Given the description of an element on the screen output the (x, y) to click on. 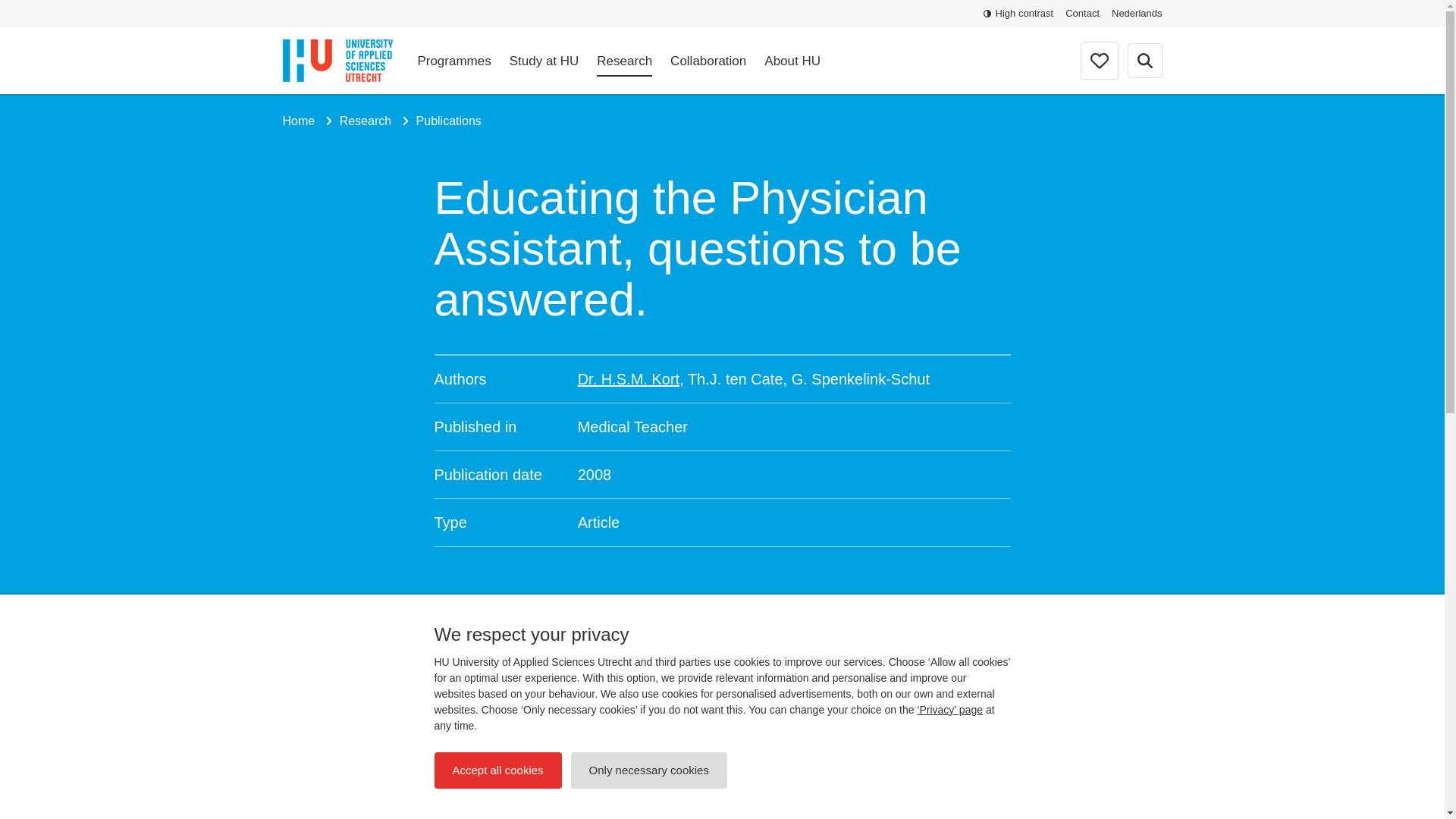
Nederlands (1136, 13)
Programmes (453, 60)
Accept all cookies (496, 770)
Research (624, 60)
Study at HU (544, 60)
Only necessary cookies (648, 770)
Contact (1082, 13)
High contrast (1019, 13)
